Given the description of an element on the screen output the (x, y) to click on. 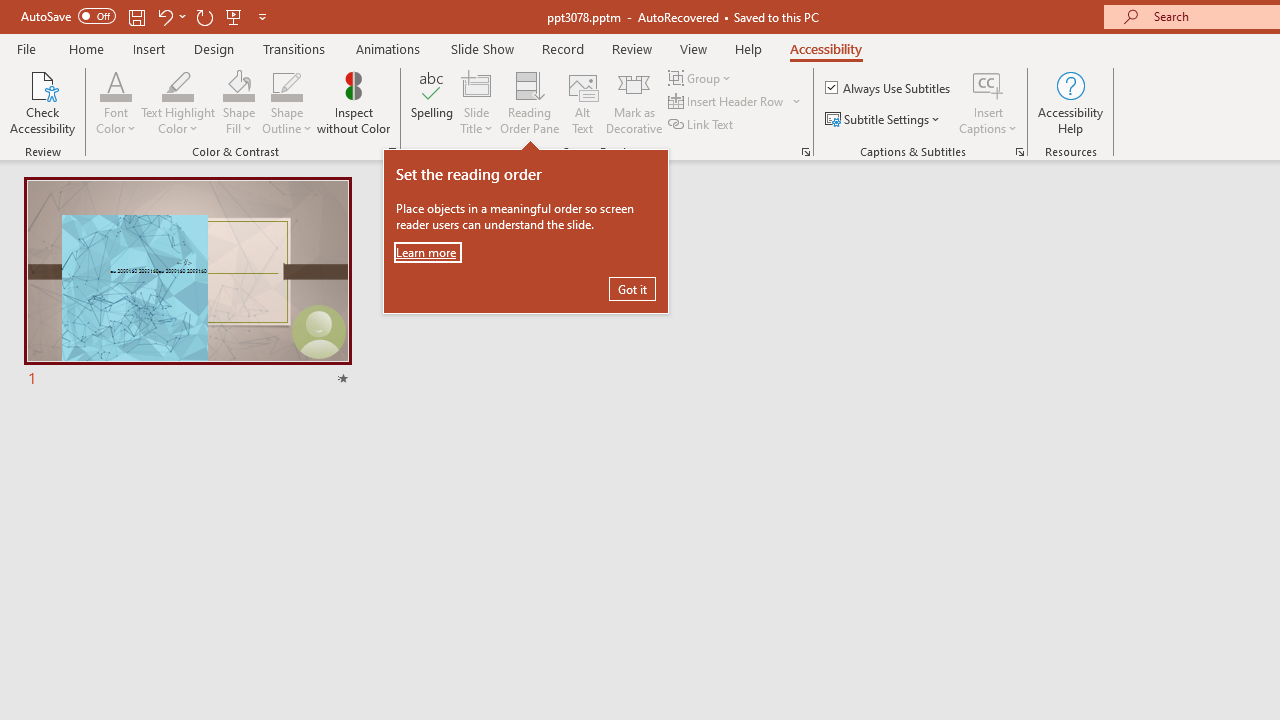
Link Text (702, 124)
Shape Outline (286, 102)
Insert Header Row (727, 101)
Group (701, 78)
Accessibility Help (1070, 102)
Insert Captions (988, 102)
Insert Captions (988, 84)
